Given the description of an element on the screen output the (x, y) to click on. 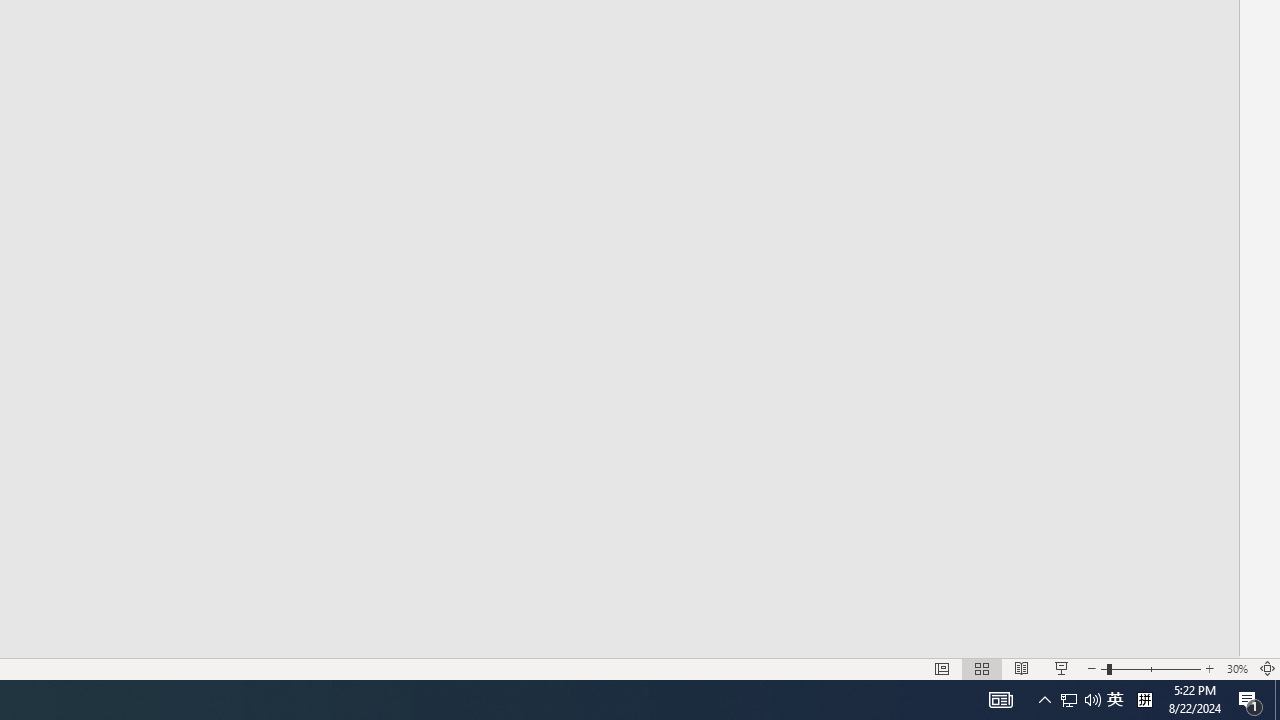
Zoom 30% (1236, 668)
